Given the description of an element on the screen output the (x, y) to click on. 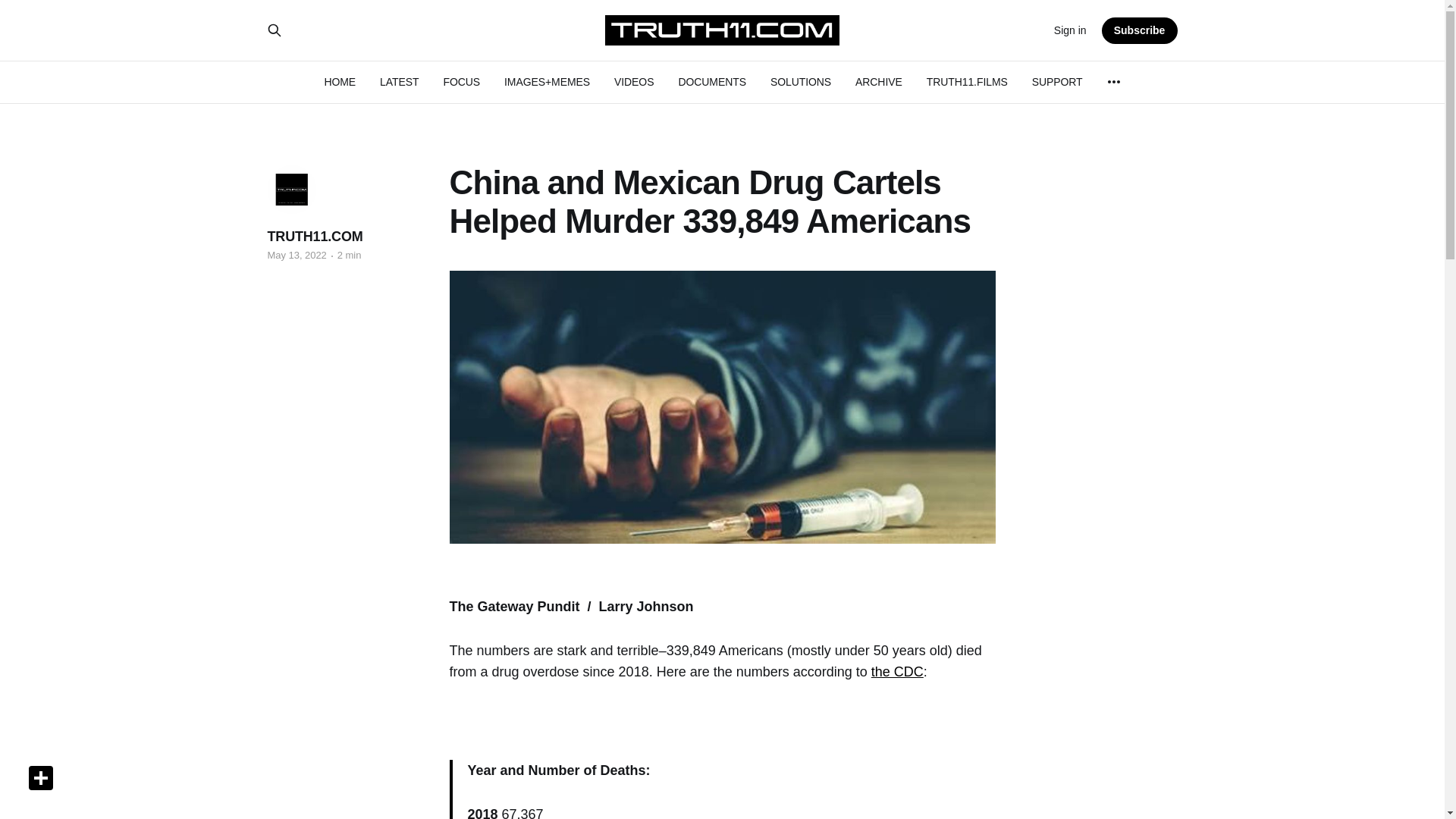
SUPPORT (1057, 81)
FOCUS (461, 81)
the CDC (896, 671)
TRUTH11.FILMS (966, 81)
VIDEOS (633, 81)
DOCUMENTS (711, 81)
ARCHIVE (879, 81)
Subscribe (1139, 29)
SOLUTIONS (800, 81)
Sign in (1070, 30)
TRUTH11.COM (314, 236)
LATEST (399, 81)
HOME (339, 81)
